Given the description of an element on the screen output the (x, y) to click on. 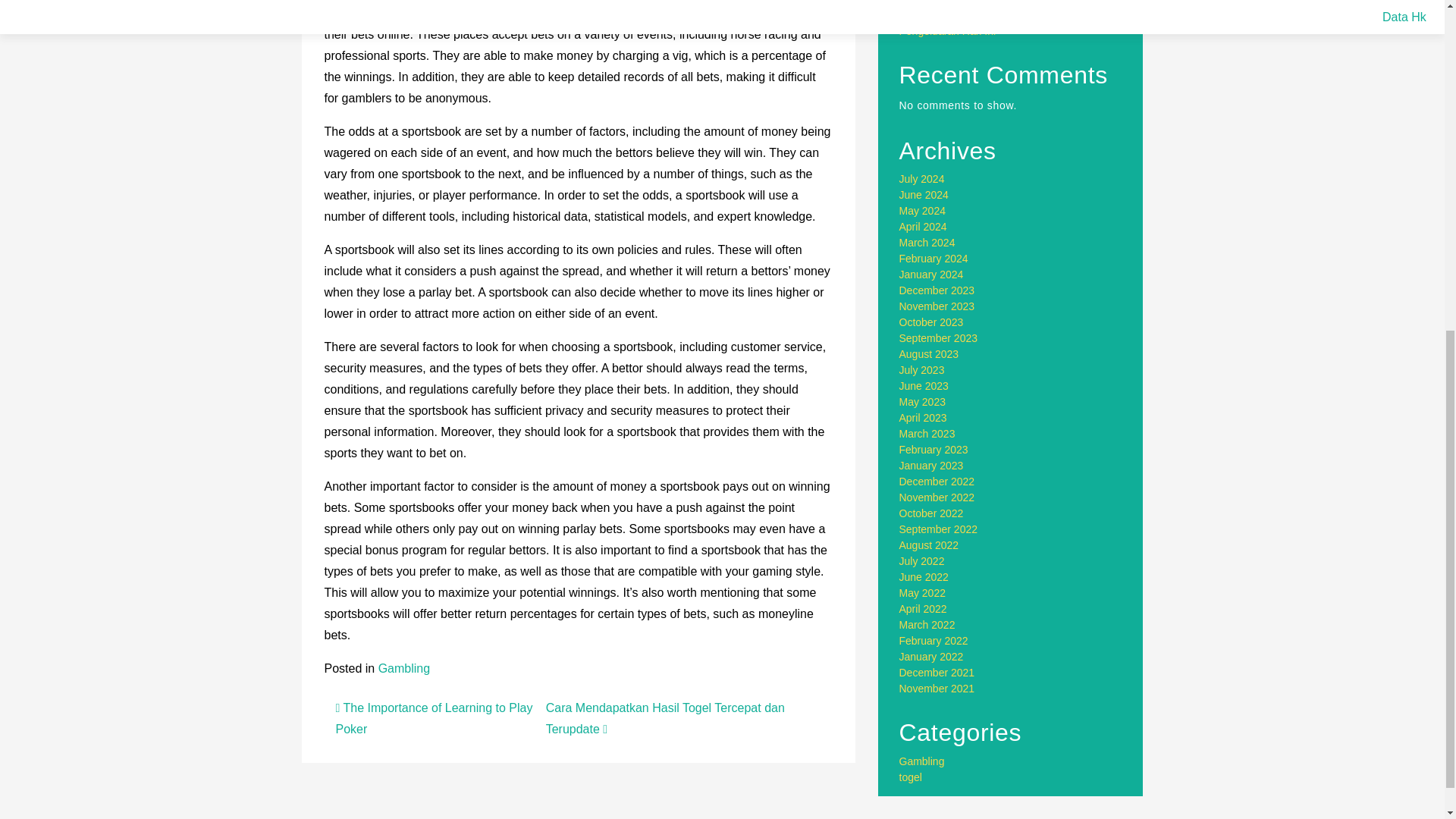
November 2022 (937, 497)
July 2024 (921, 178)
August 2023 (929, 354)
September 2022 (938, 529)
October 2022 (931, 512)
Cara Mendapatkan Hasil Togel Tercepat dan Terupdate  (665, 718)
July 2023 (921, 369)
March 2023 (927, 433)
Gambling (403, 667)
Update Terbaru Seputar Togel dan Data Pengeluaran Hari Ini (992, 22)
December 2023 (937, 290)
December 2022 (937, 481)
January 2023 (931, 465)
April 2023 (923, 417)
